Given the description of an element on the screen output the (x, y) to click on. 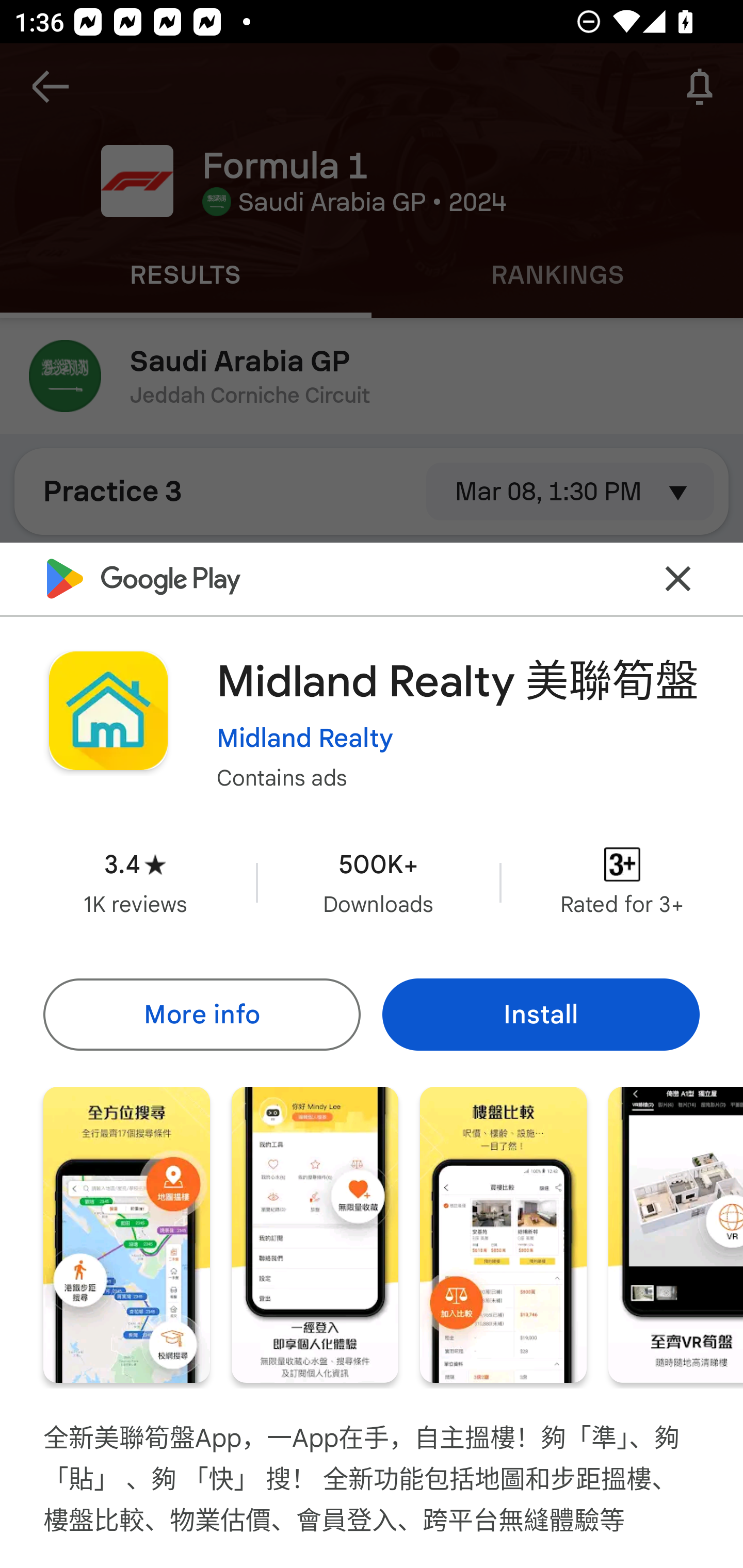
Close (677, 578)
Image of app or game icon for Midland Realty 美聯筍盤 (108, 711)
Midland Realty (304, 737)
More info (201, 1014)
Install (540, 1014)
Screenshot "1" of "7" (126, 1234)
Screenshot "2" of "7" (314, 1234)
Screenshot "3" of "7" (502, 1234)
Screenshot "4" of "7" (675, 1234)
